Given the description of an element on the screen output the (x, y) to click on. 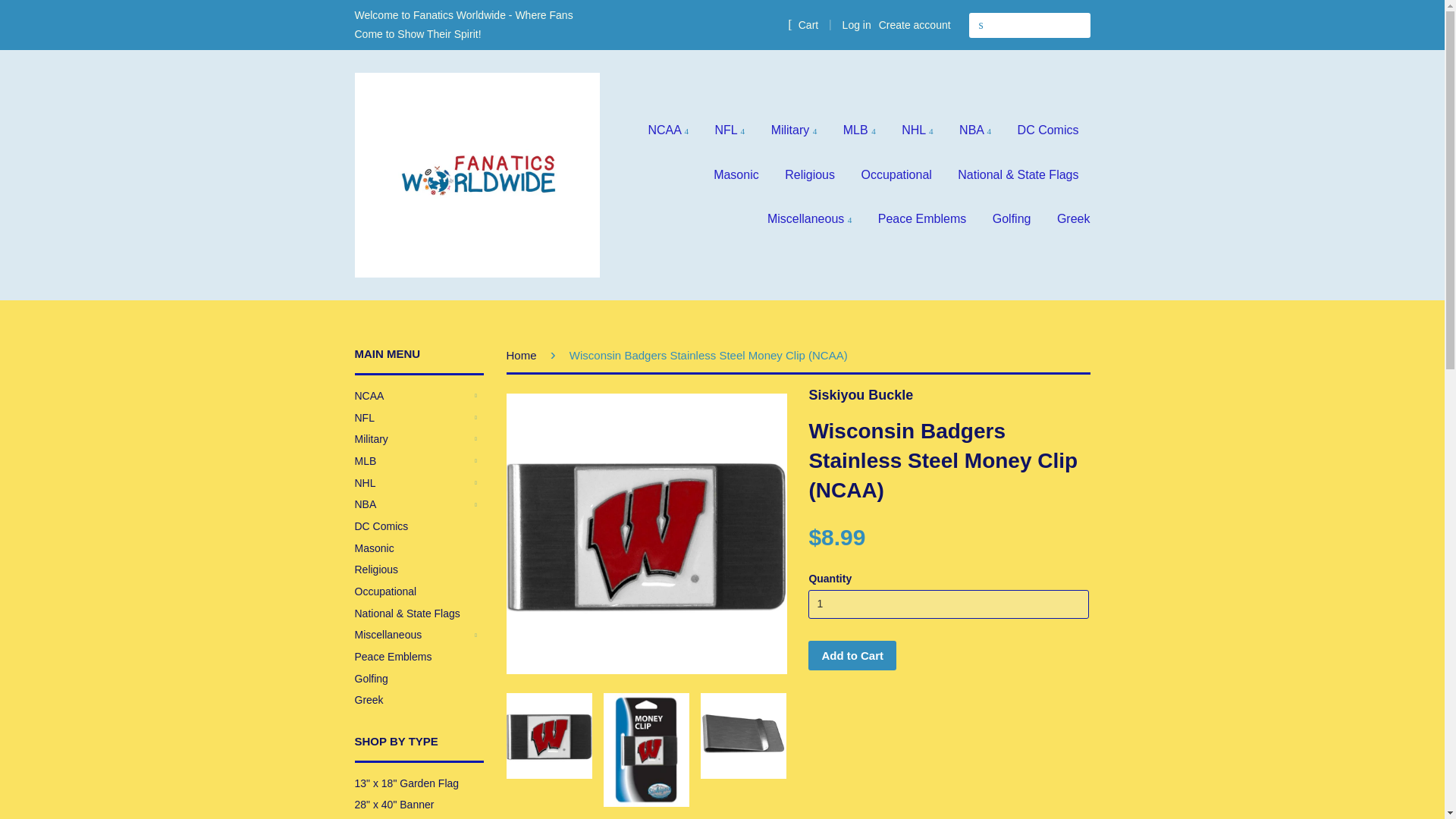
Create account (914, 24)
Log in (856, 24)
1 (948, 604)
Search (980, 25)
Cart (802, 24)
Back to the frontpage (523, 354)
